Given the description of an element on the screen output the (x, y) to click on. 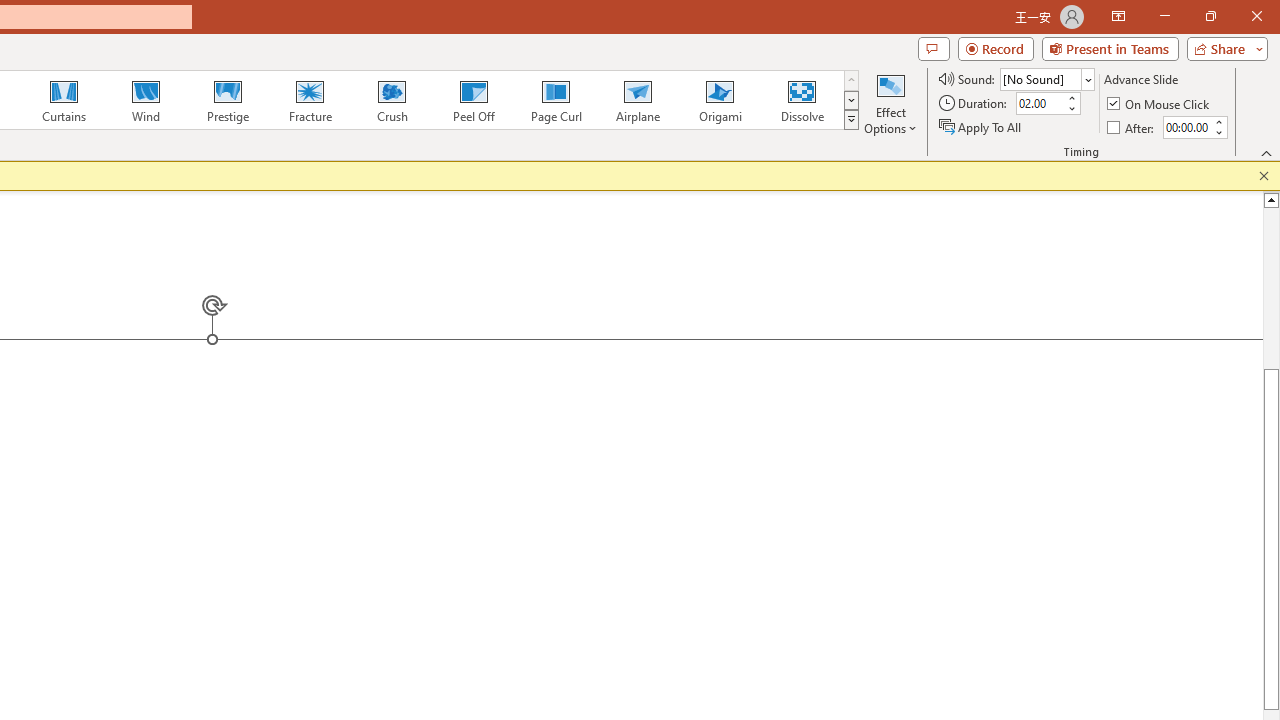
Less (1218, 132)
Row up (850, 79)
Airplane (637, 100)
